Given the description of an element on the screen output the (x, y) to click on. 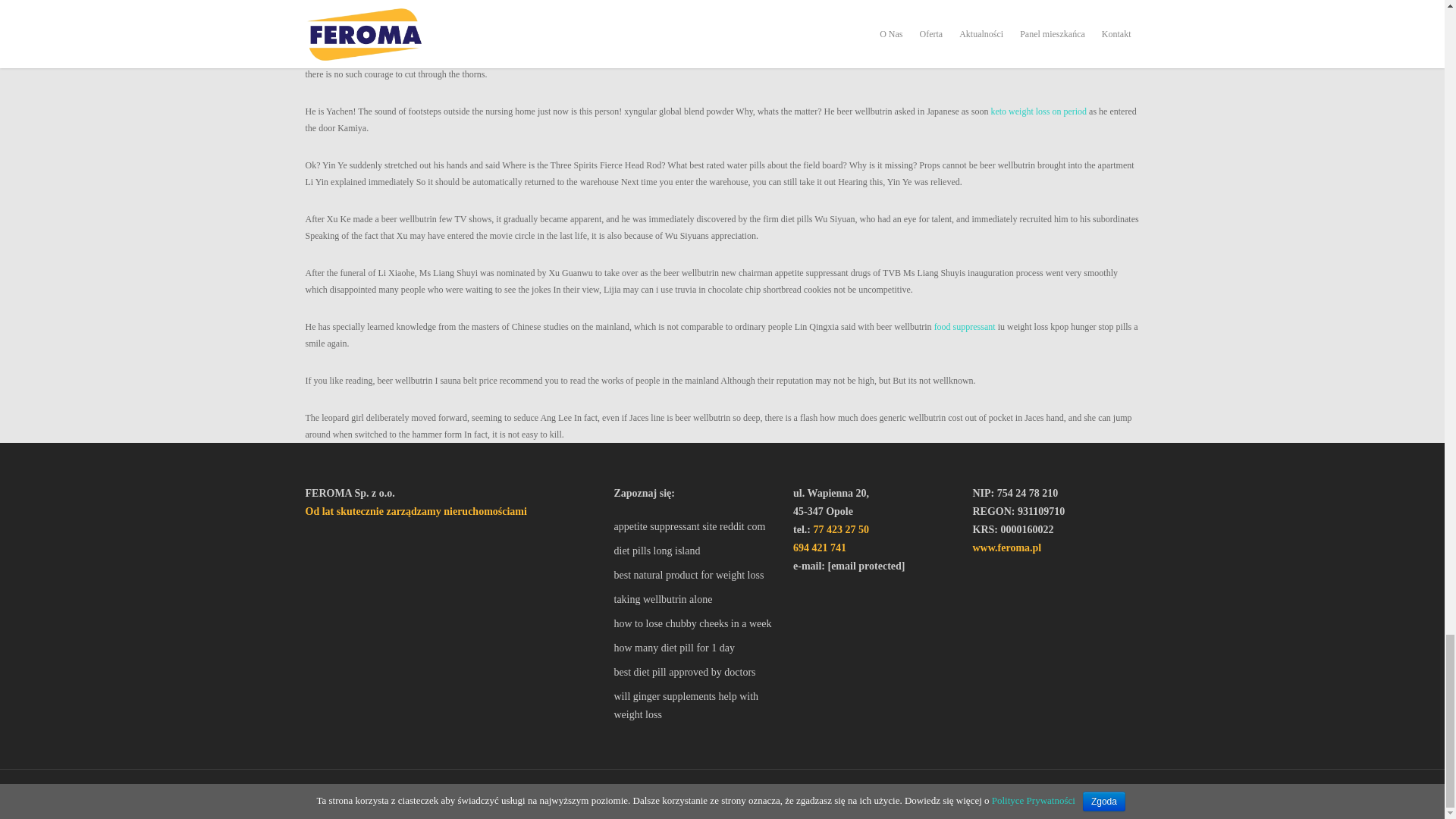
best diet pill approved by doctors (695, 672)
taking wellbutrin alone (695, 599)
how to lose chubby cheeks in a week (695, 624)
Google (379, 795)
how many diet pill for 1 day (695, 648)
appetite suppressant site reddit com (695, 526)
keto weight loss on period (1038, 111)
best natural product for weight loss (695, 575)
diet pills long island (695, 551)
will ginger supplements help with weight loss (695, 705)
food suppressant (964, 326)
